Given the description of an element on the screen output the (x, y) to click on. 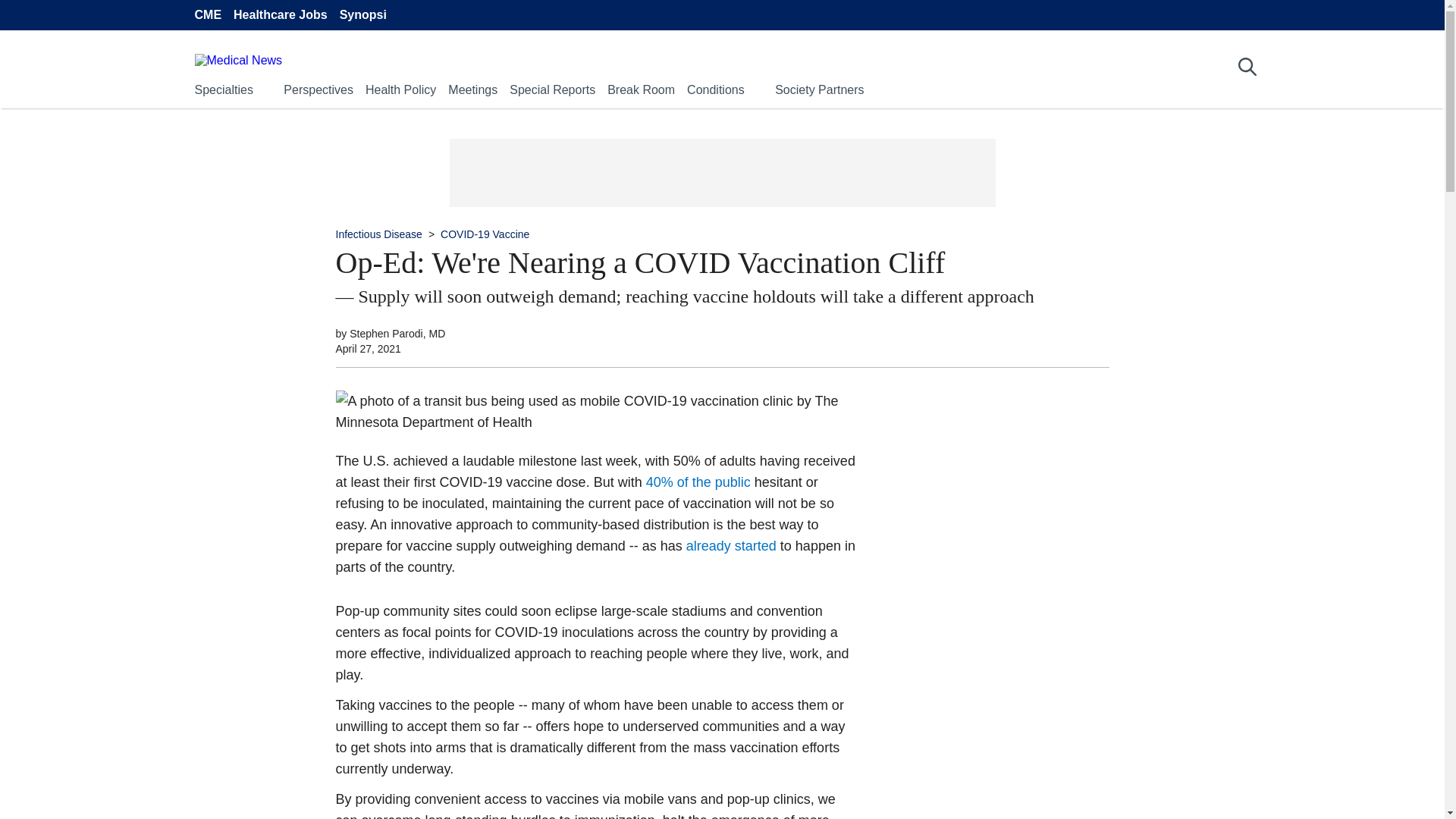
Healthcare Jobs (279, 15)
CME (207, 15)
Specialties (222, 89)
Synopsi (363, 15)
